Given the description of an element on the screen output the (x, y) to click on. 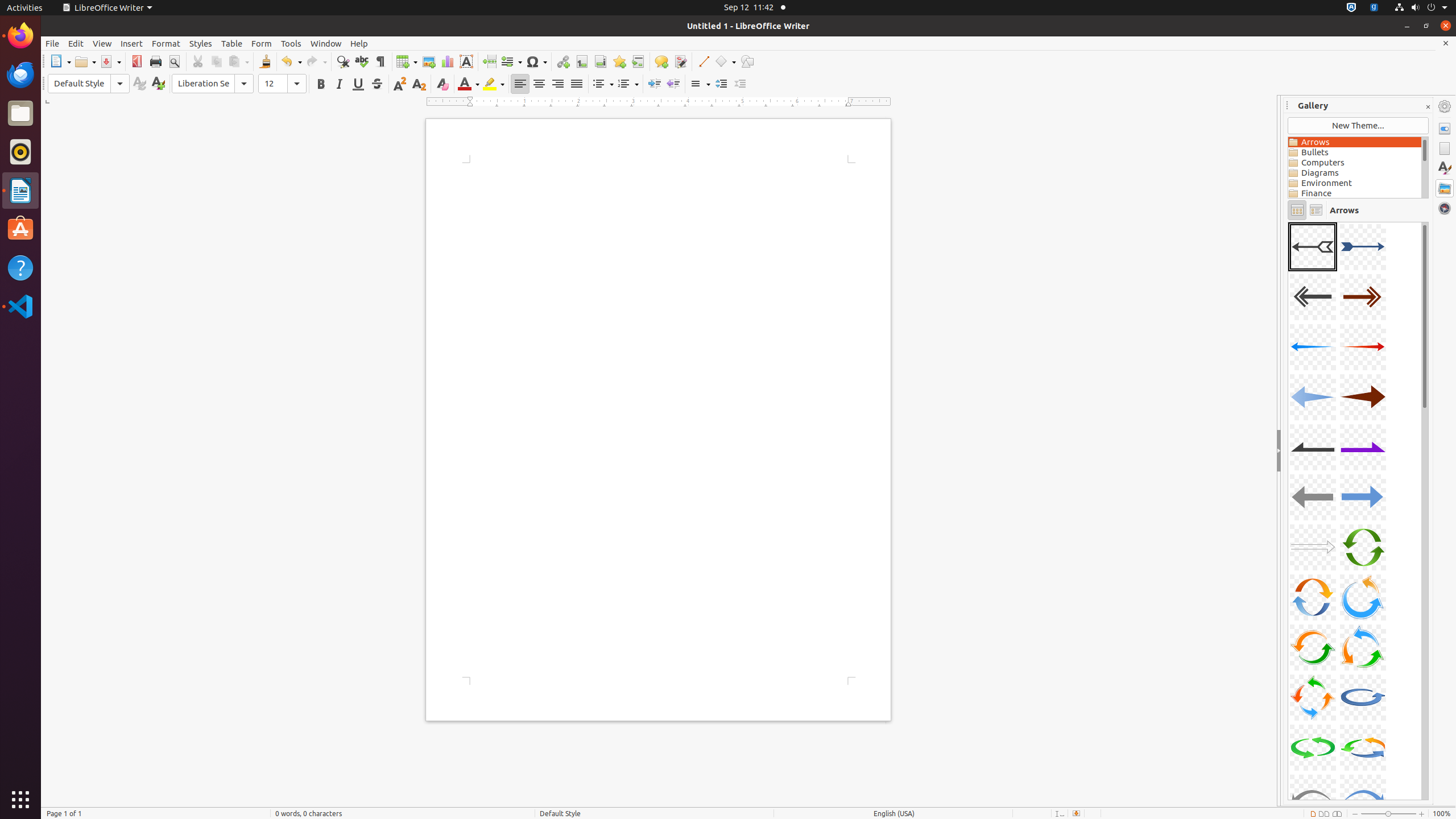
Hyperlink Element type: toggle-button (562, 61)
Italic Element type: toggle-button (338, 83)
Image Element type: push-button (428, 61)
A19-CircleArrow Element type: list-item (1312, 696)
LibreOffice Writer Element type: push-button (20, 190)
